Given the description of an element on the screen output the (x, y) to click on. 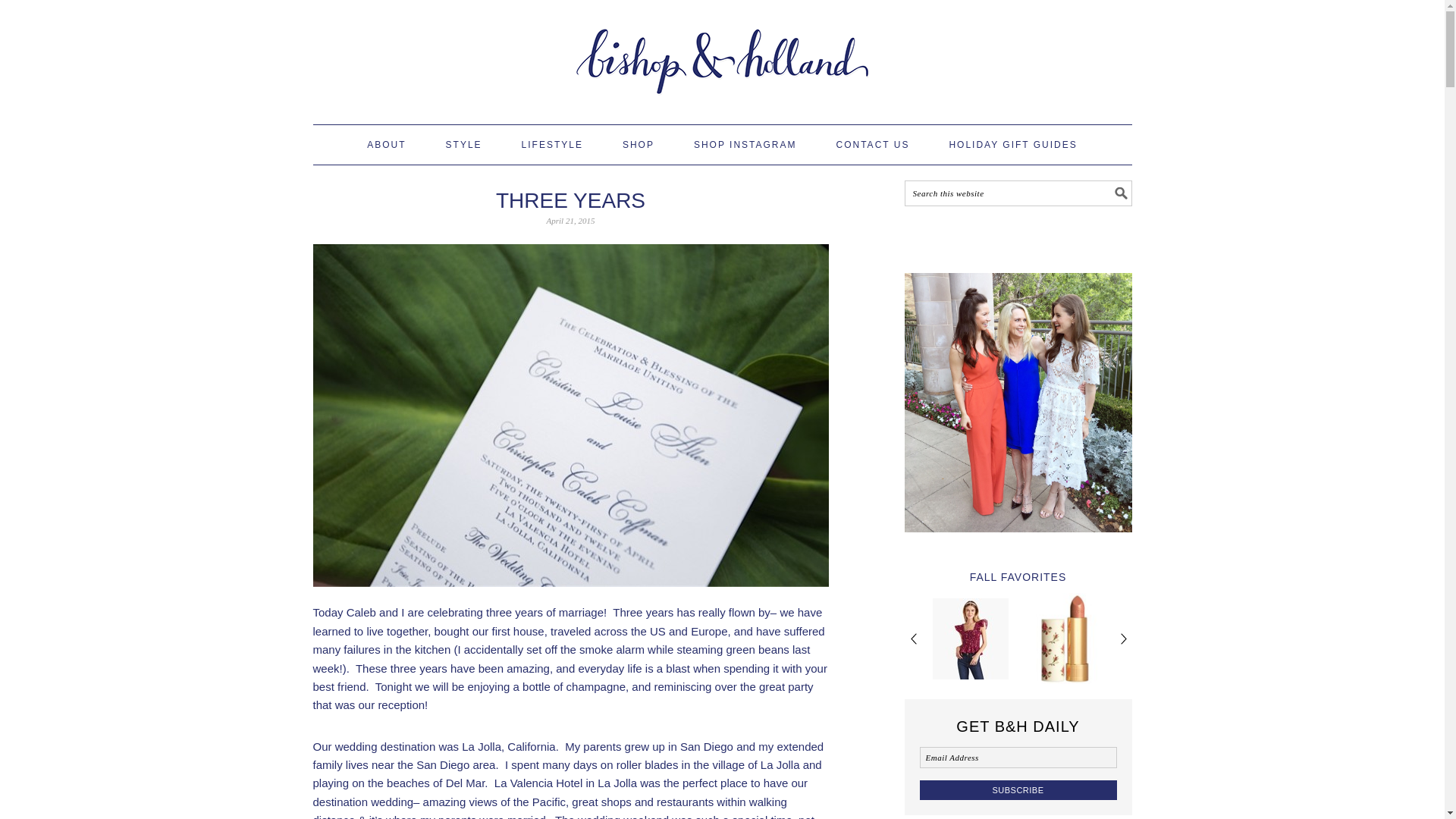
LIFESTYLE (552, 144)
Subscribe (1017, 790)
STYLE (463, 144)
CONTACT US (872, 144)
ABOUT (386, 144)
SHOP INSTAGRAM (745, 144)
SHOP (638, 144)
HOLIDAY GIFT GUIDES (1013, 144)
